Given the description of an element on the screen output the (x, y) to click on. 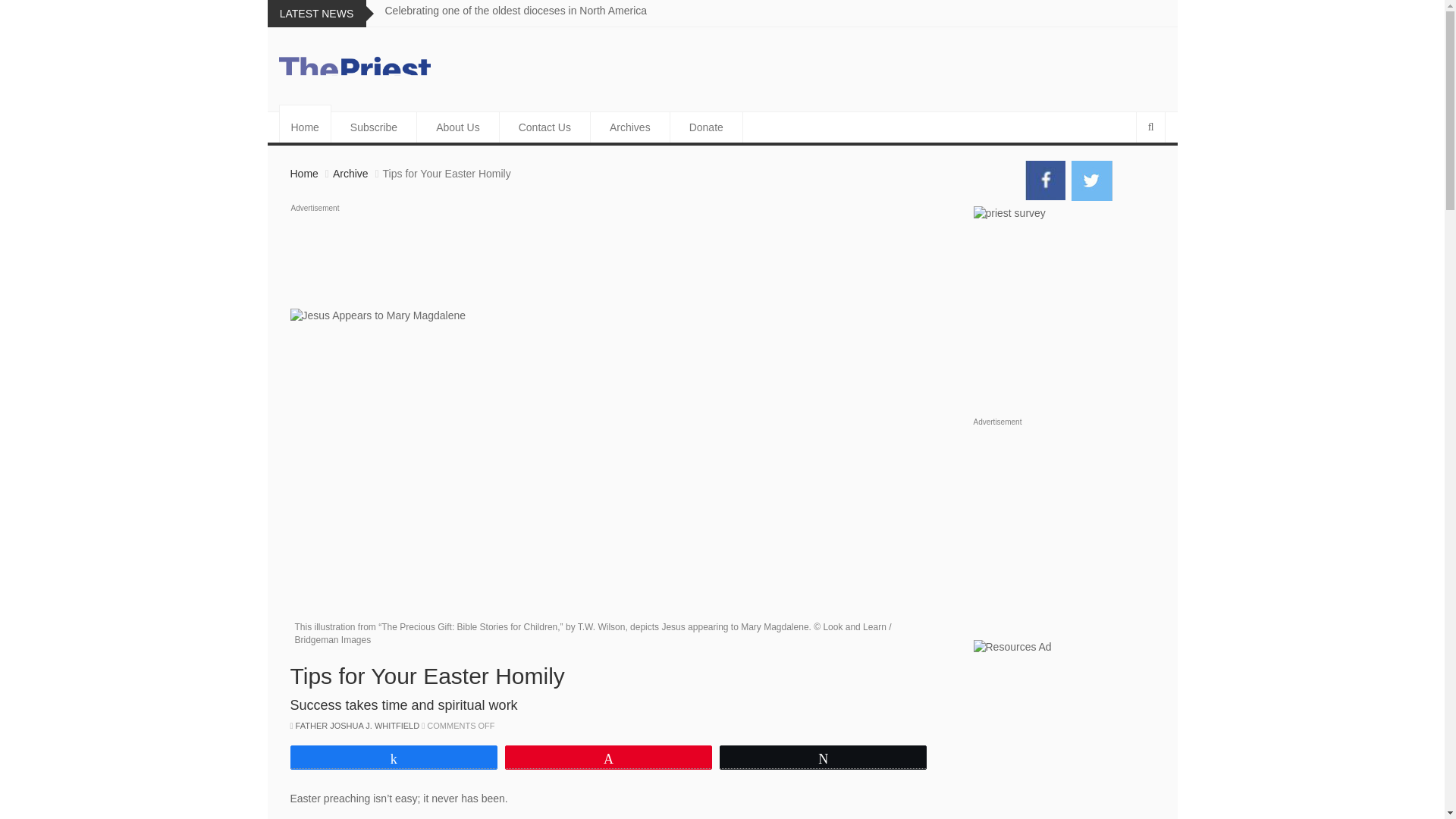
About Us (457, 127)
Home (305, 127)
Subscribe (373, 127)
Donate (705, 127)
Donate (705, 127)
Contact Us (545, 127)
Celebrating one of the oldest dioceses in North America (516, 10)
Archive (350, 173)
Contact Us (545, 127)
Celebrating one of the oldest dioceses in North America (516, 10)
